Given the description of an element on the screen output the (x, y) to click on. 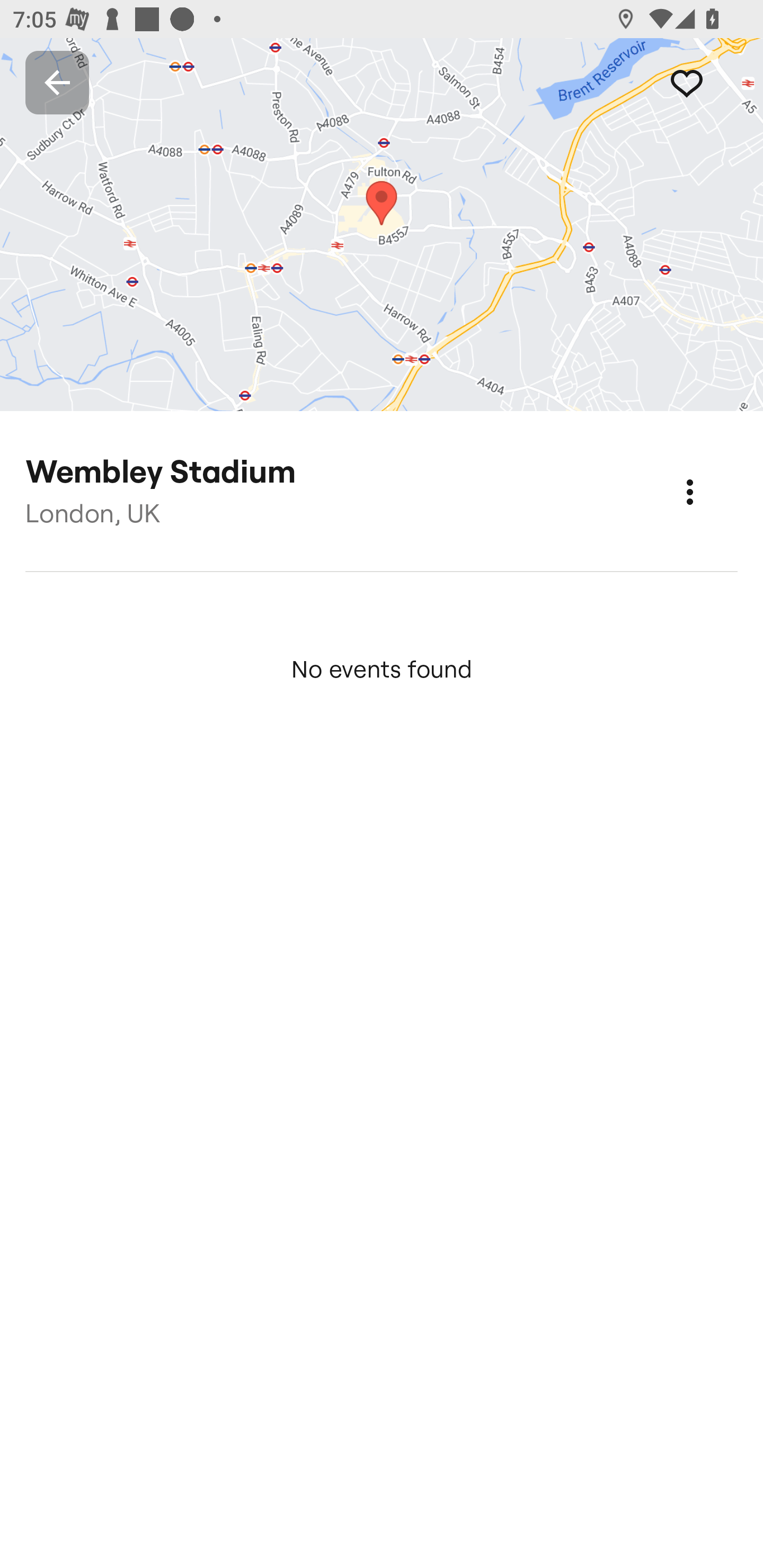
Back (57, 81)
Tracking (705, 81)
See more options (708, 472)
